Given the description of an element on the screen output the (x, y) to click on. 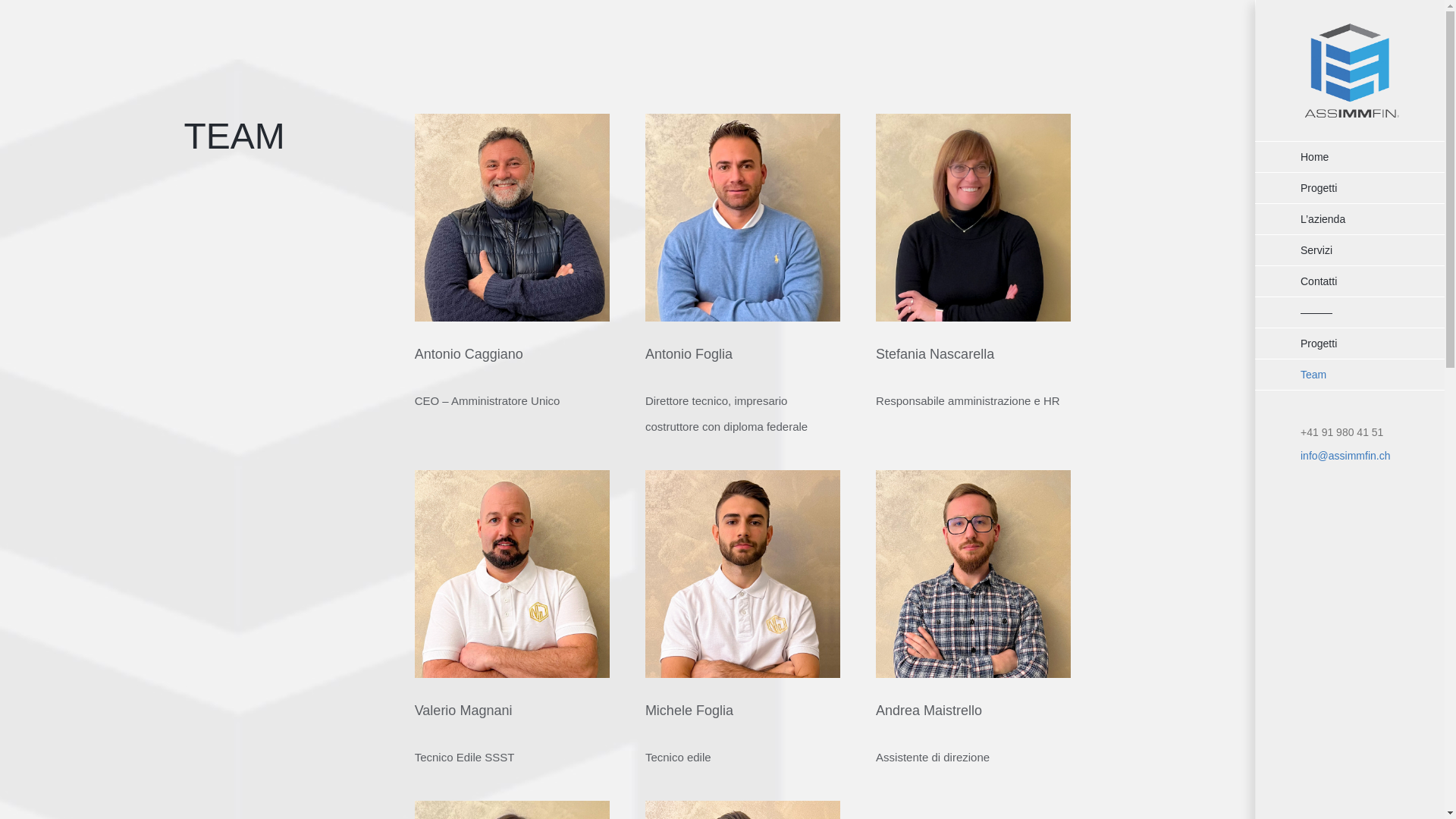
info@assimmfin.ch Element type: text (1345, 455)
Home Element type: text (1349, 156)
Progetti Element type: text (1349, 342)
Progetti Element type: text (1349, 187)
Team Element type: text (1349, 374)
Contatti Element type: text (1349, 280)
Servizi Element type: text (1349, 250)
